Given the description of an element on the screen output the (x, y) to click on. 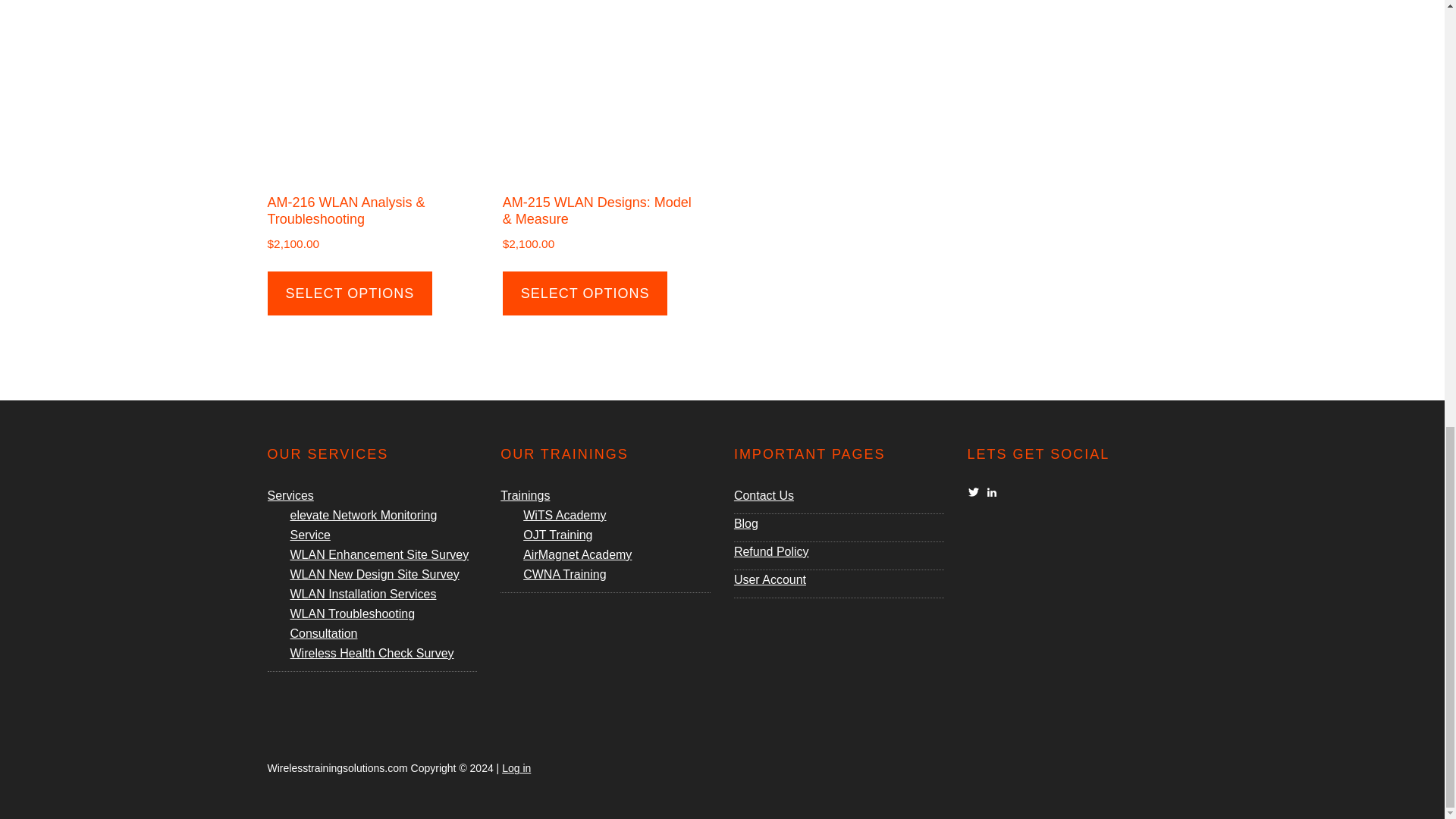
elevate Network Monitoring Service (362, 524)
SELECT OPTIONS (349, 293)
SELECT OPTIONS (585, 293)
Services (289, 495)
